Given the description of an element on the screen output the (x, y) to click on. 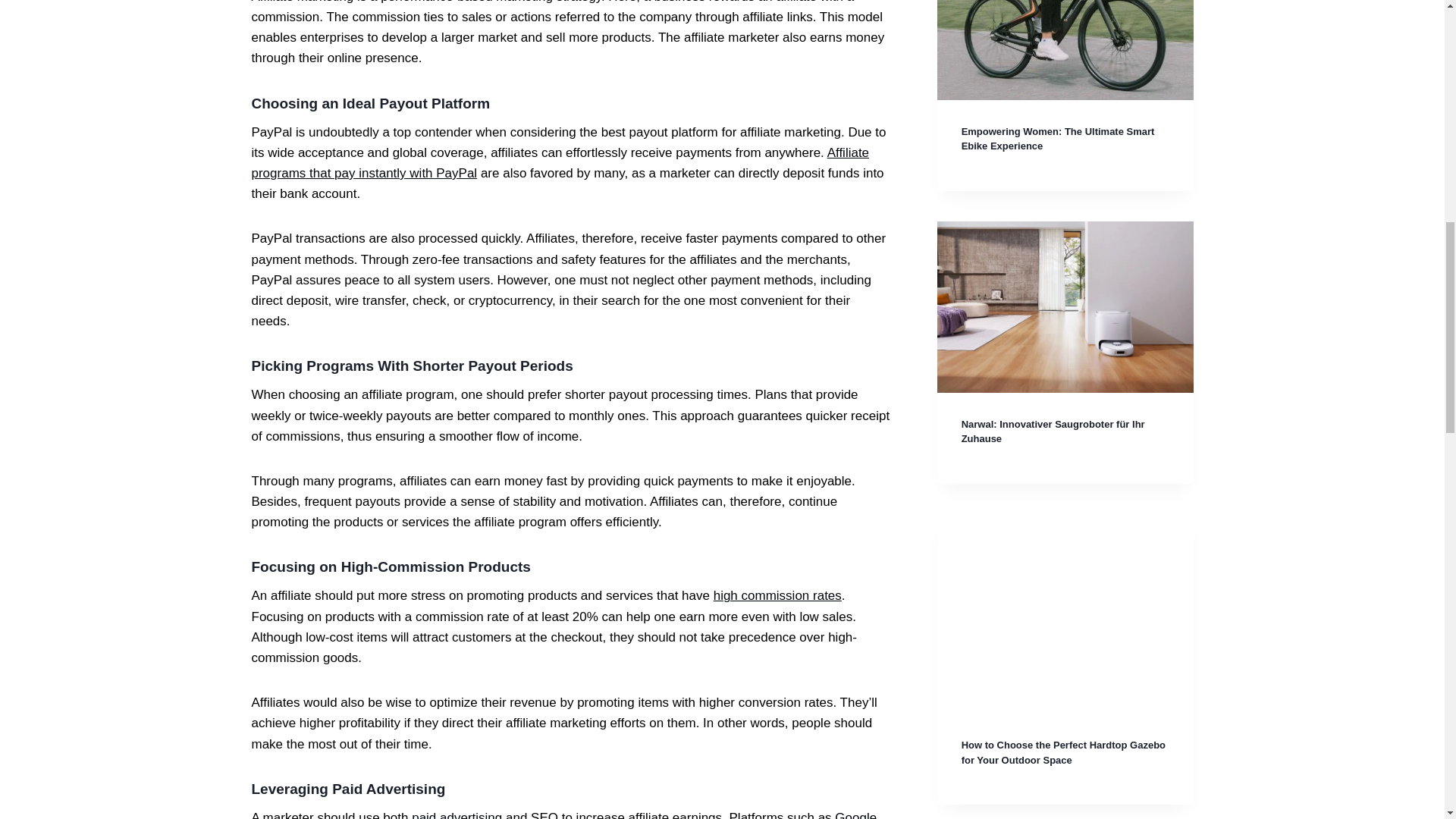
Google (855, 814)
Empowering Women: The Ultimate Smart Ebike Experience (1057, 139)
paid advertising (457, 814)
Affiliate programs that pay instantly with PayPal (560, 162)
high commission rates (777, 595)
